Given the description of an element on the screen output the (x, y) to click on. 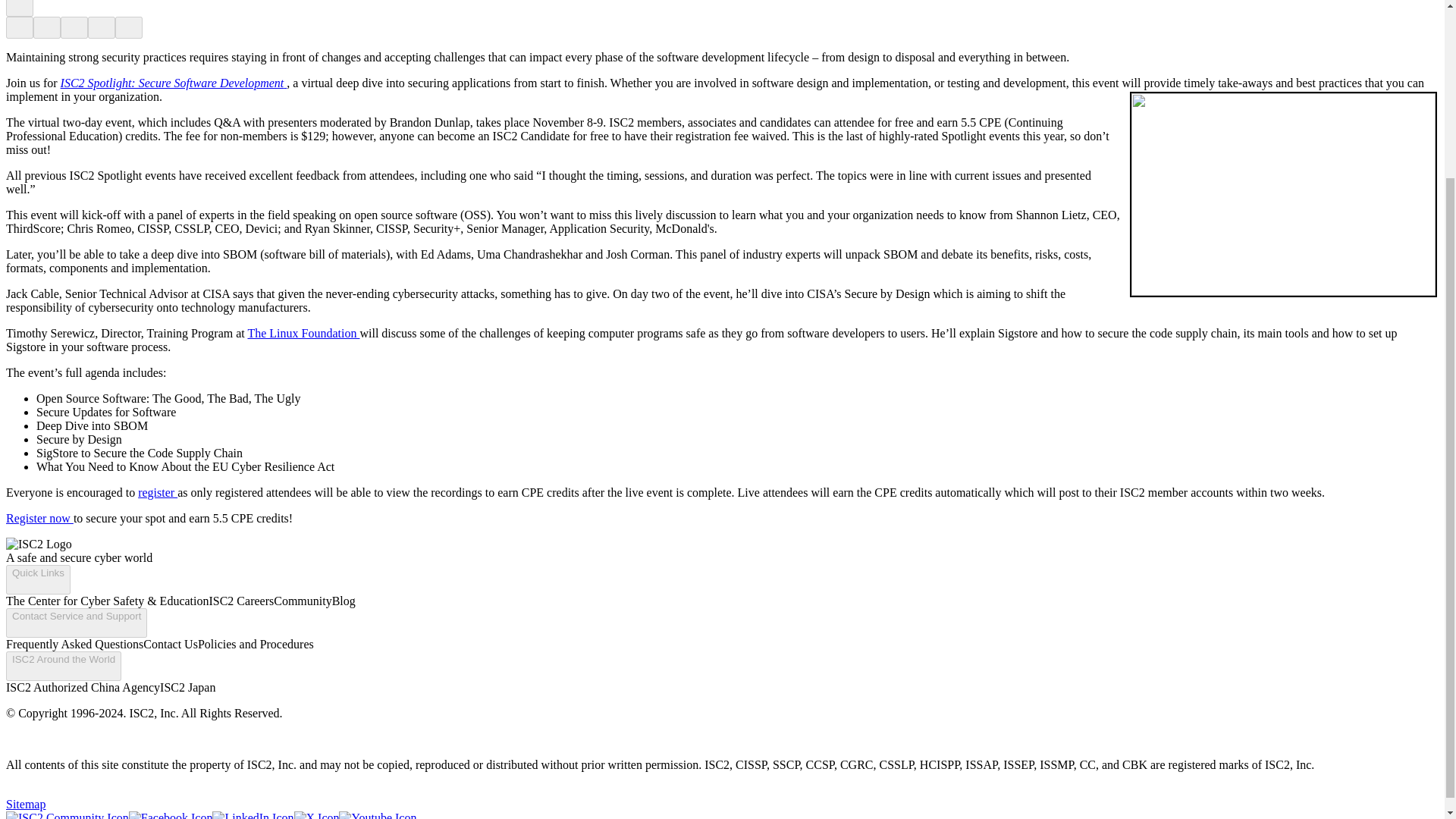
Contact Service and Support (76, 623)
ISC2 Around the World (62, 665)
Sitemap (25, 803)
Quick Links (37, 579)
register (157, 492)
ISC2 Spotlight: Secure Software Development (173, 82)
The Linux Foundation (303, 332)
Register now (39, 517)
